Given the description of an element on the screen output the (x, y) to click on. 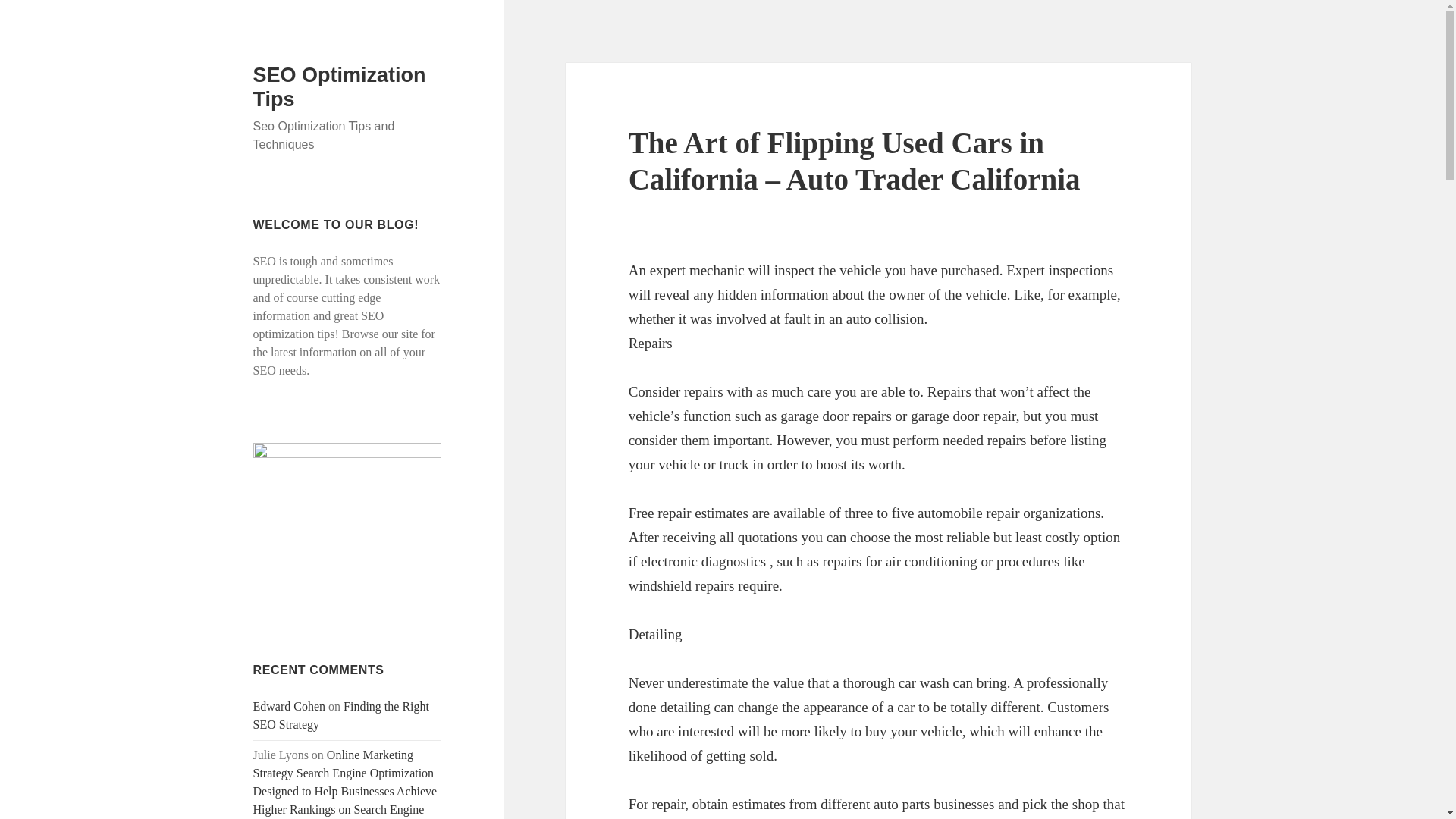
SEO Optimization Tips (339, 86)
Finding the Right SEO Strategy (341, 715)
Edward Cohen (289, 706)
